Given the description of an element on the screen output the (x, y) to click on. 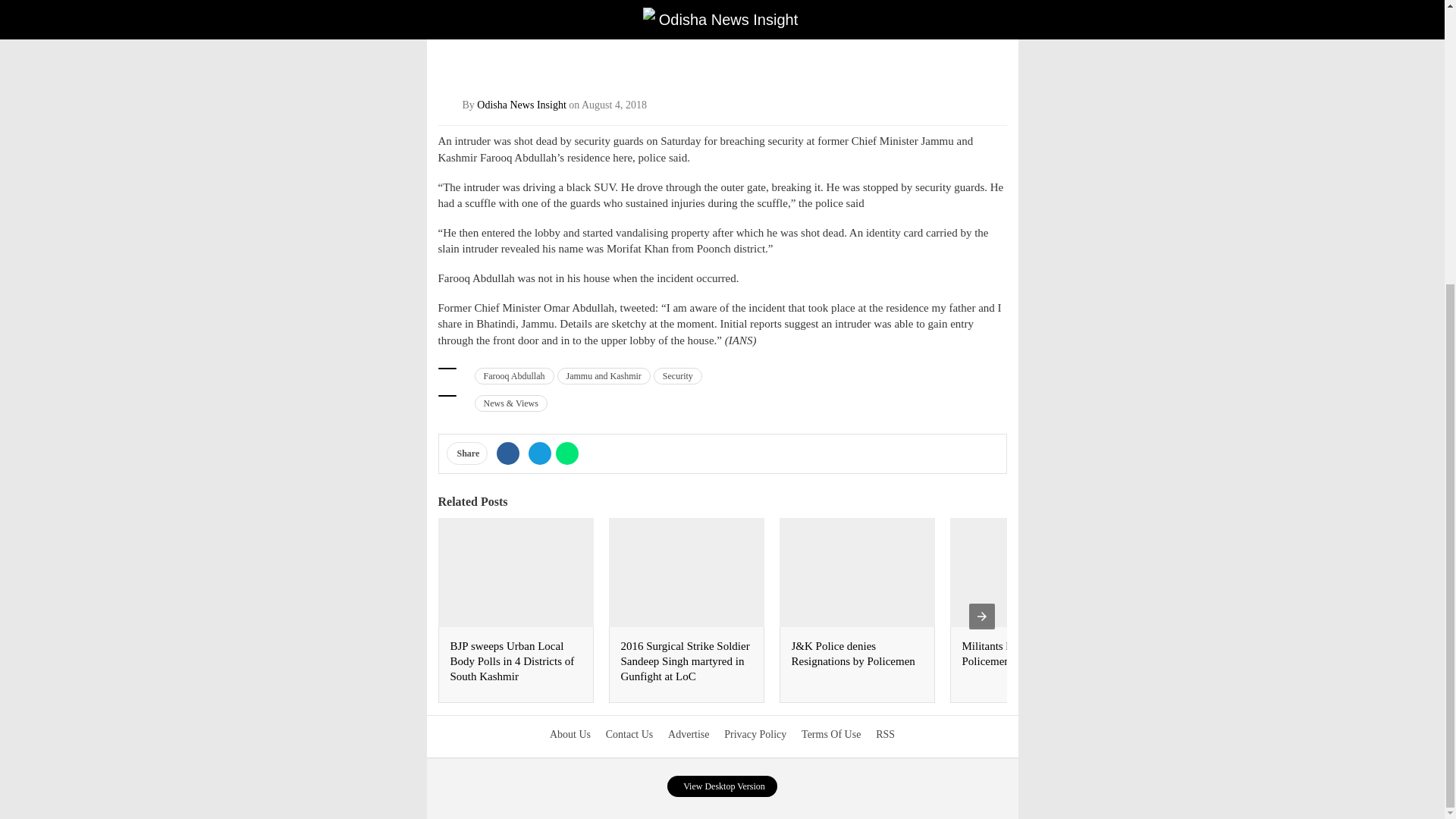
RSS (885, 734)
Farooq Abdullah (514, 375)
Privacy Policy (754, 734)
Advertise (688, 734)
Security (677, 375)
Restrictions in Srinagar to prevent Muharram procession (1192, 660)
Odisha News Insight (521, 105)
Contact Us (629, 734)
Jammu and Kashmir (602, 375)
